Given the description of an element on the screen output the (x, y) to click on. 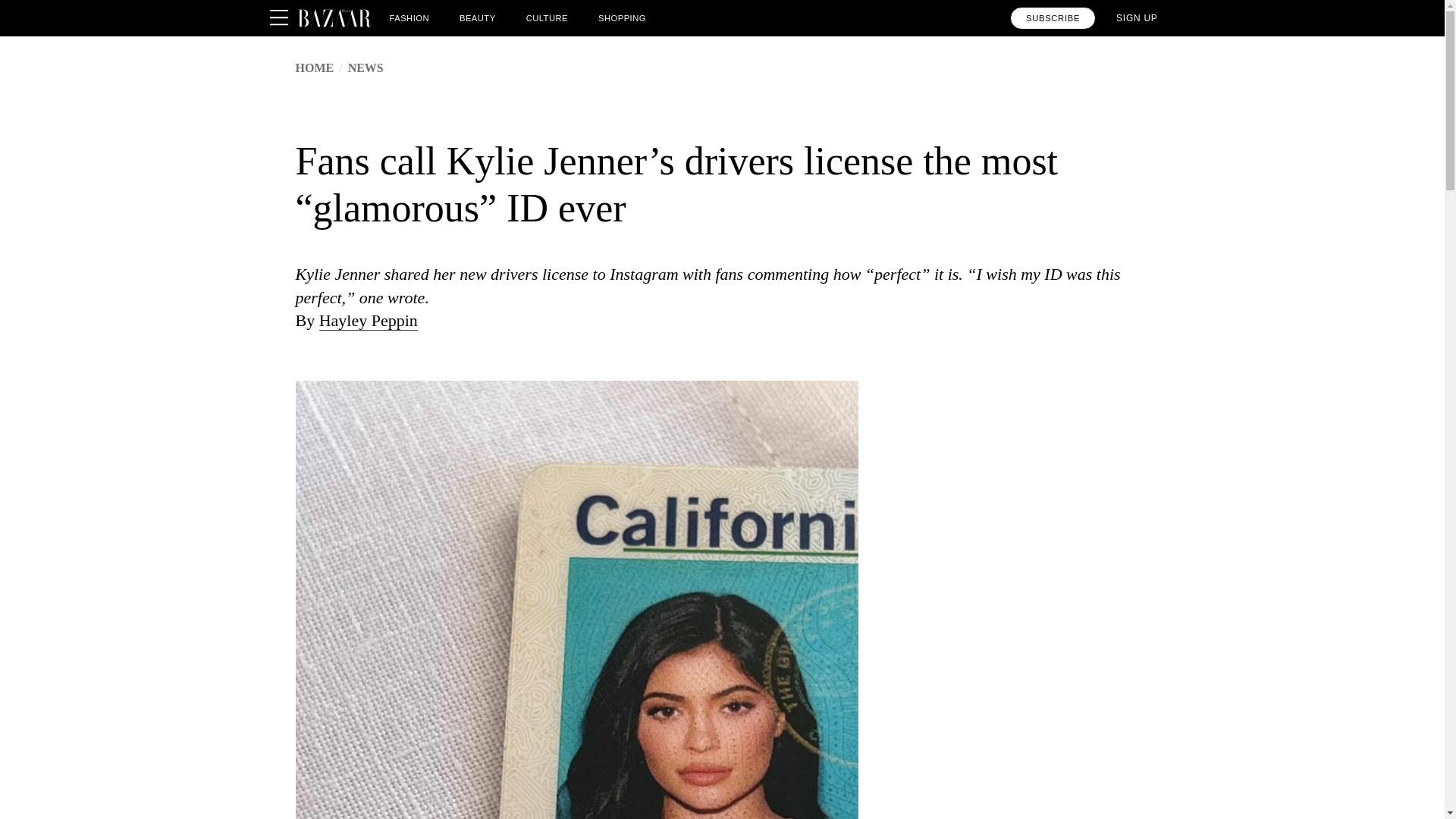
FASHION (409, 17)
Go to Harper's Bazaar Australia. (314, 67)
Hayley Peppin (367, 320)
SUBSCRIBE (1053, 17)
SHOPPING (622, 17)
BEAUTY (478, 17)
SIGN UP (1136, 17)
CULTURE (546, 17)
SUBSCRIBE (1053, 17)
Go to the News category archives. (365, 67)
HOME (314, 67)
NEWS (365, 67)
